Given the description of an element on the screen output the (x, y) to click on. 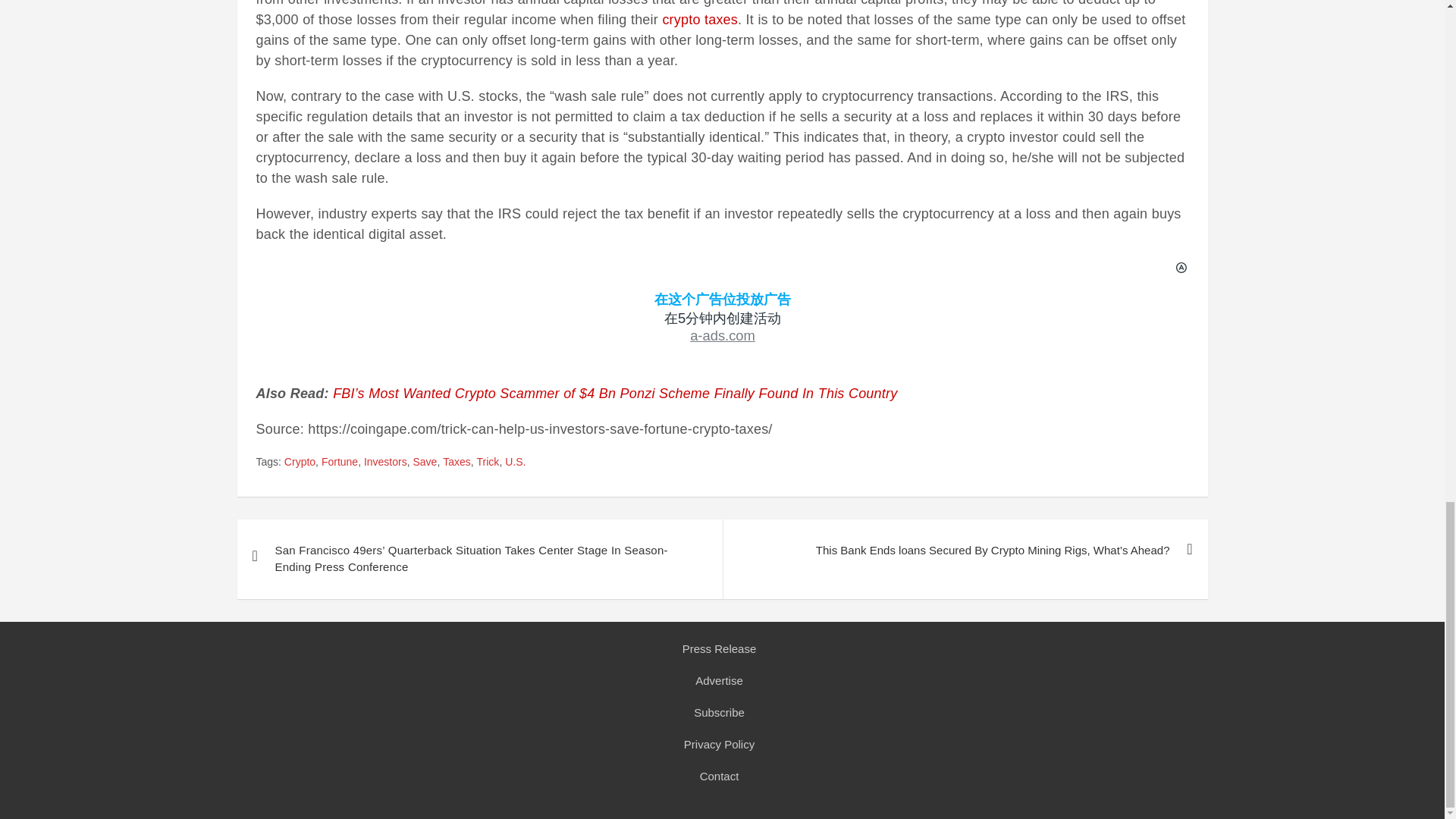
crypto taxes (700, 19)
Crypto (299, 462)
Fortune (339, 462)
Investors (385, 462)
Save (424, 462)
Taxes (456, 462)
